Given the description of an element on the screen output the (x, y) to click on. 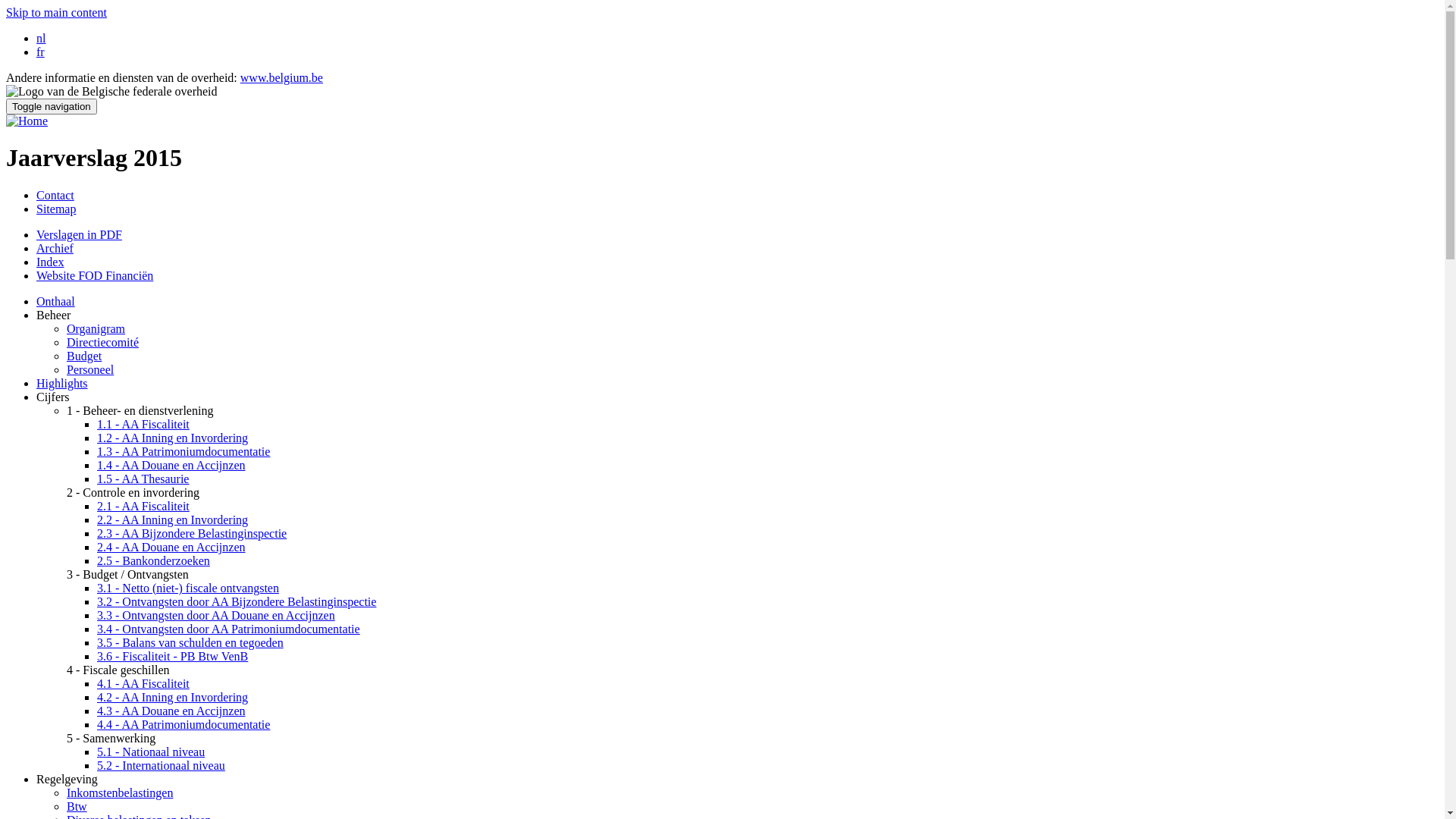
2.2 - AA Inning en Invordering Element type: text (172, 519)
3.6 - Fiscaliteit - PB Btw VenB Element type: text (172, 655)
Archief Element type: text (54, 247)
4.1 - AA Fiscaliteit Element type: text (143, 683)
nl Element type: text (40, 37)
Budget Element type: text (83, 355)
1.3 - AA Patrimoniumdocumentatie Element type: text (183, 451)
Highlights Element type: text (61, 382)
3.4 - Ontvangsten door AA Patrimoniumdocumentatie Element type: text (228, 628)
3.3 - Ontvangsten door AA Douane en Accijnzen Element type: text (216, 614)
5.2 - Internationaal niveau Element type: text (161, 765)
Personeel Element type: text (89, 369)
4.3 - AA Douane en Accijnzen Element type: text (171, 710)
1.1 - AA Fiscaliteit Element type: text (143, 423)
4.4 - AA Patrimoniumdocumentatie Element type: text (183, 724)
Contact Element type: text (55, 194)
Inkomstenbelastingen Element type: text (119, 792)
2.1 - AA Fiscaliteit Element type: text (143, 505)
1.2 - AA Inning en Invordering Element type: text (172, 437)
Skip to main content Element type: text (56, 12)
www.belgium.be Element type: text (281, 77)
3.2 - Ontvangsten door AA Bijzondere Belastinginspectie Element type: text (236, 601)
fr Element type: text (40, 51)
Onthaal Element type: text (55, 300)
2.3 - AA Bijzondere Belastinginspectie Element type: text (191, 533)
2.5 - Bankonderzoeken Element type: text (153, 560)
Btw Element type: text (76, 806)
3.5 - Balans van schulden en tegoeden Element type: text (190, 642)
1.4 - AA Douane en Accijnzen Element type: text (171, 464)
Toggle navigation Element type: text (51, 106)
Verslagen in PDF Element type: text (79, 234)
Organigram Element type: text (95, 328)
2.4 - AA Douane en Accijnzen Element type: text (171, 546)
5.1 - Nationaal niveau Element type: text (150, 751)
3.1 - Netto (niet-) fiscale ontvangsten Element type: text (188, 587)
1.5 - AA Thesaurie Element type: text (142, 478)
4.2 - AA Inning en Invordering Element type: text (172, 696)
Sitemap Element type: text (55, 208)
Index Element type: text (49, 261)
Home Element type: hover (26, 120)
